Given the description of an element on the screen output the (x, y) to click on. 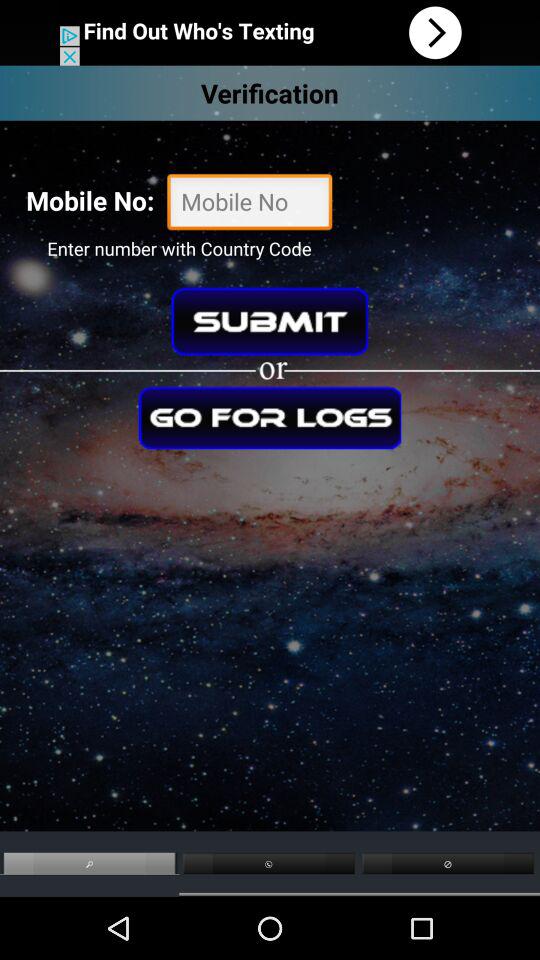
click to submit (269, 321)
